Given the description of an element on the screen output the (x, y) to click on. 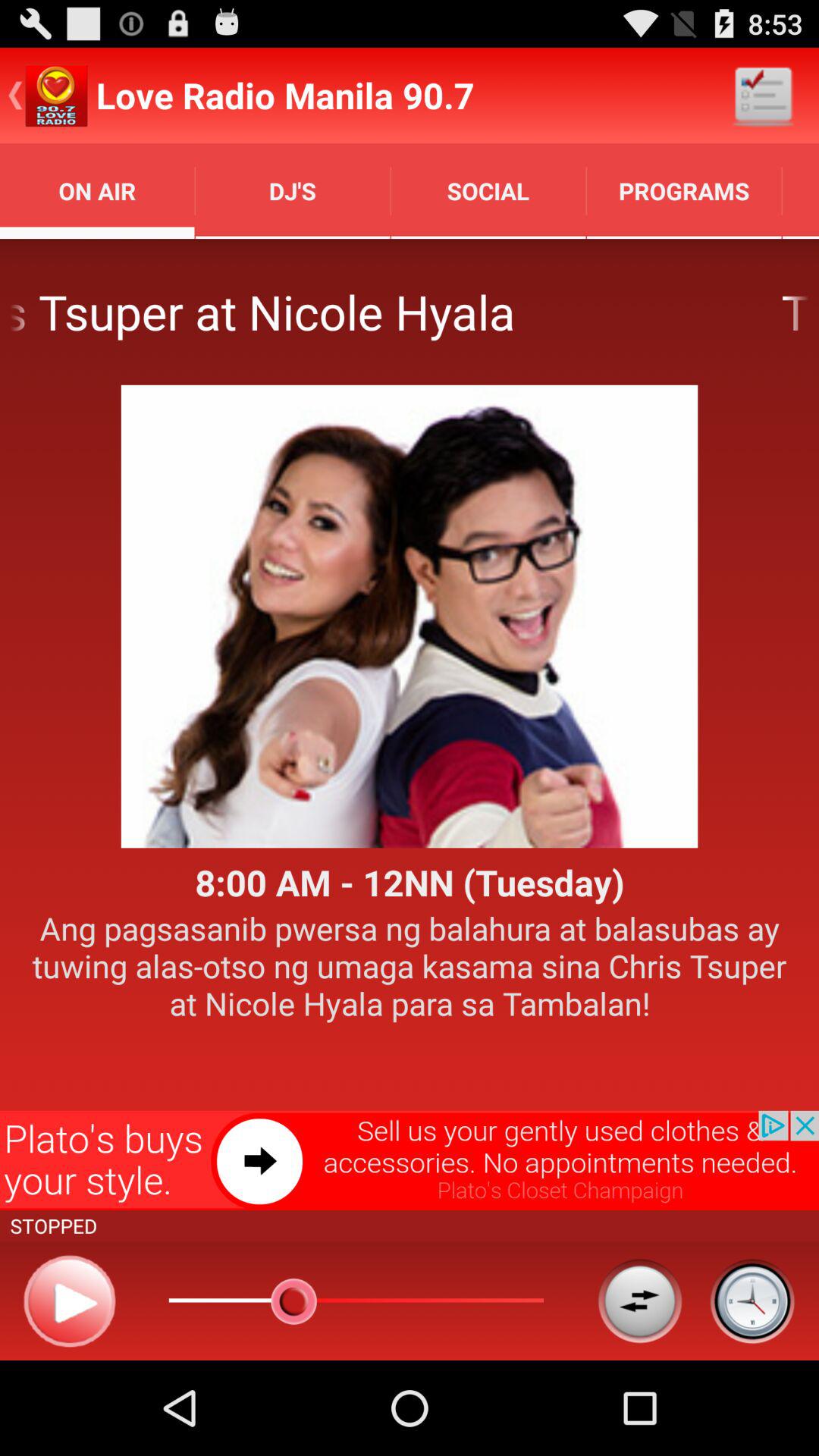
open icon below the ang pagsasanib pwersa item (409, 1160)
